Given the description of an element on the screen output the (x, y) to click on. 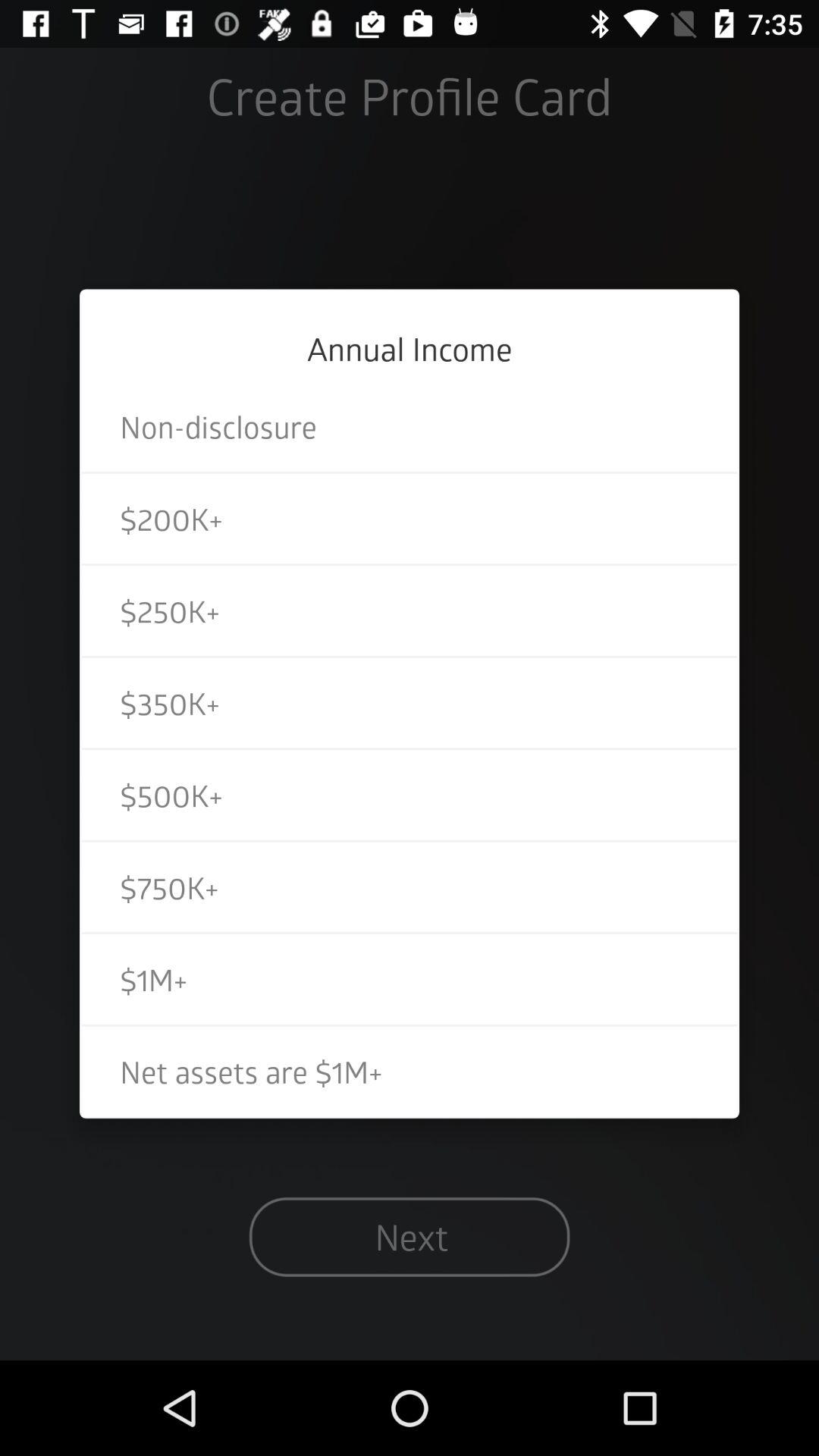
press the icon above $750k+ (409, 795)
